Given the description of an element on the screen output the (x, y) to click on. 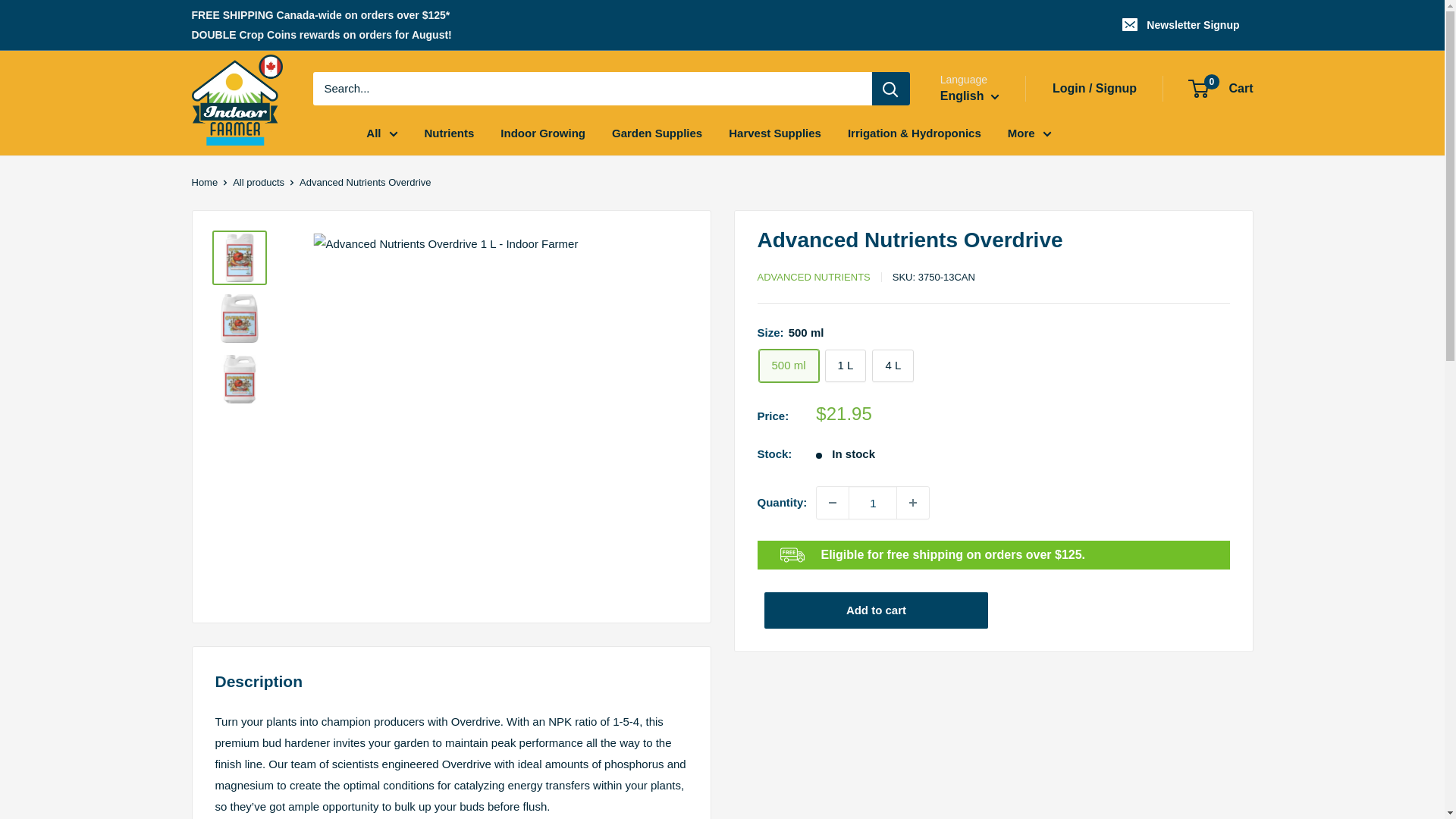
4 L (893, 365)
Newsletter Signup (1181, 24)
1 (872, 502)
1 L (845, 365)
Increase quantity by 1 (912, 502)
Decrease quantity by 1 (832, 502)
500 ml (788, 365)
